Given the description of an element on the screen output the (x, y) to click on. 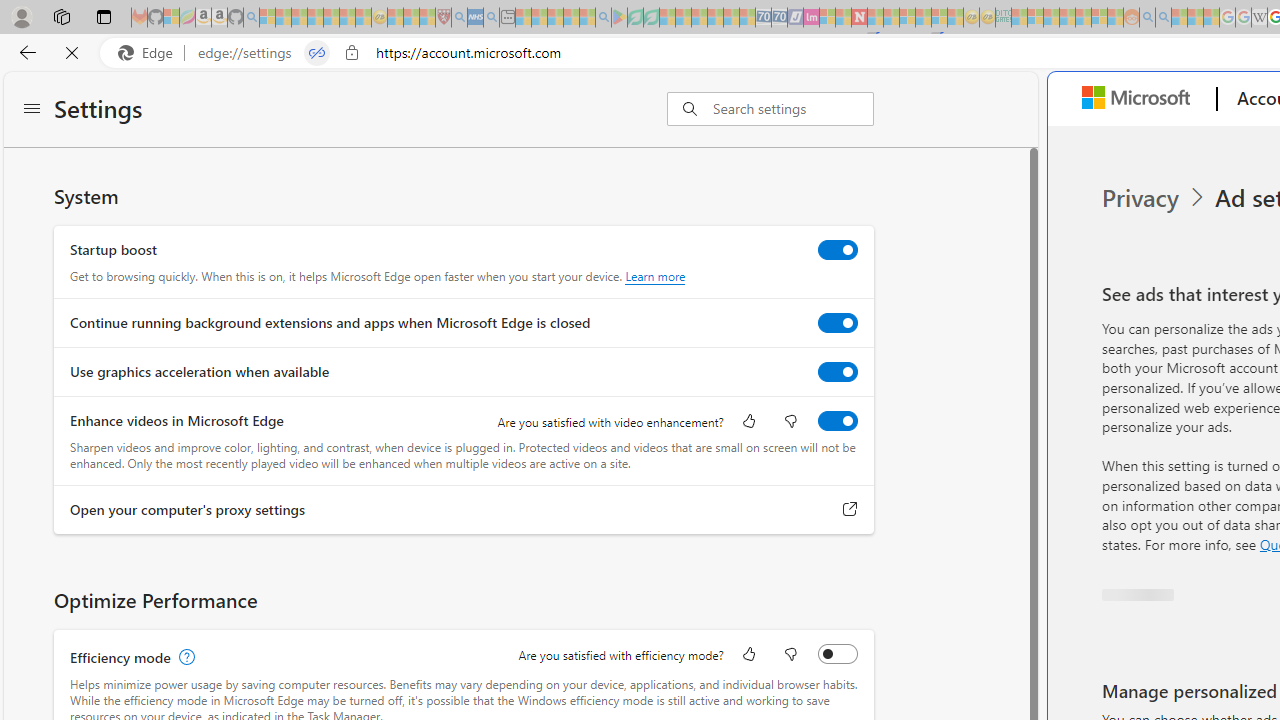
Microsoft (1140, 99)
utah sues federal government - Search - Sleeping (491, 17)
Open your computer's proxy settings (849, 509)
Efficiency mode (837, 653)
Startup boost (837, 249)
Pets - MSN - Sleeping (571, 17)
Jobs - lastminute.com Investor Portal - Sleeping (811, 17)
Latest Politics News & Archive | Newsweek.com - Sleeping (859, 17)
